Given the description of an element on the screen output the (x, y) to click on. 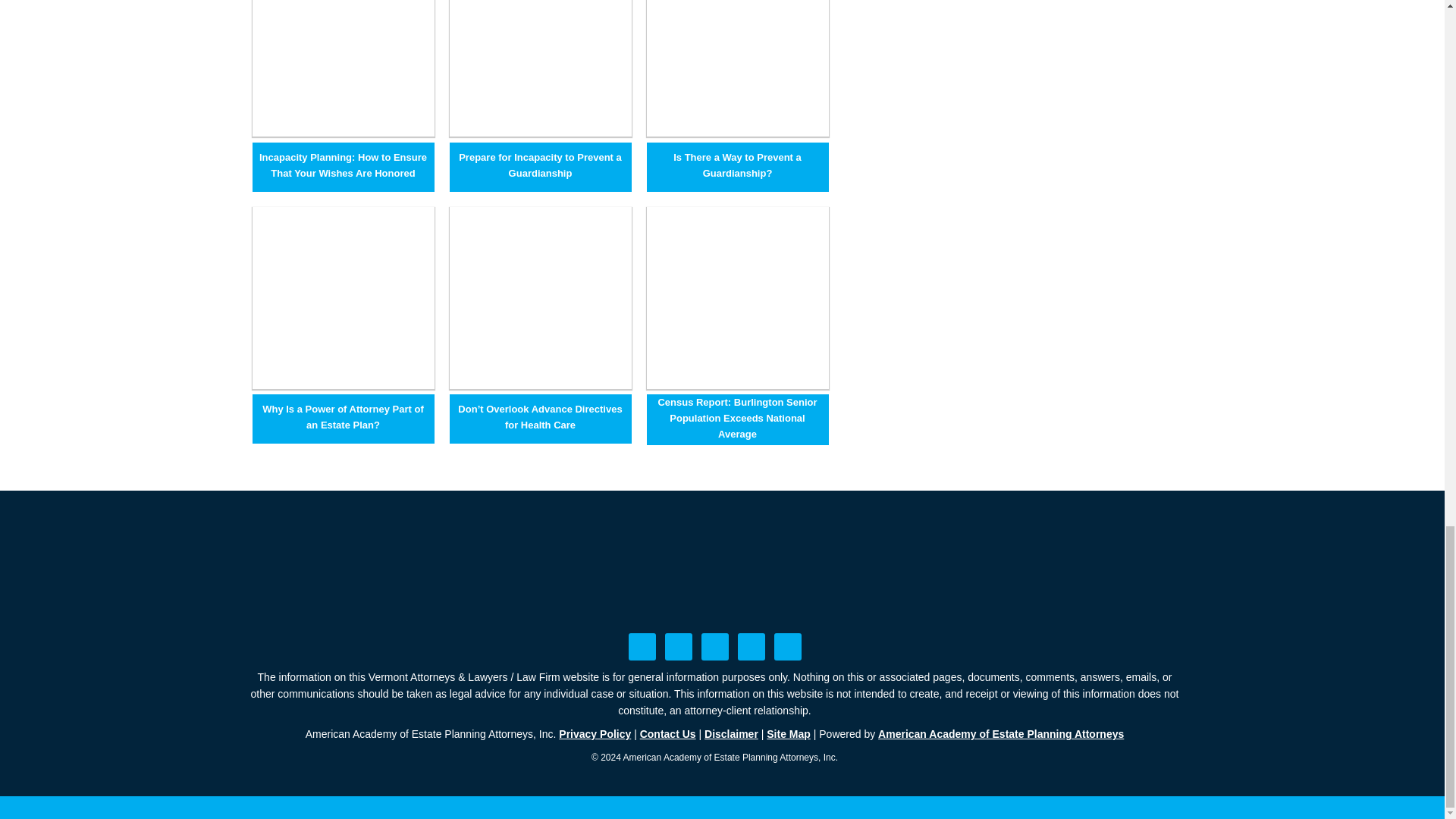
Prepare for Incapacity to Prevent a Guardianship (539, 132)
Prepare for Incapacity to Prevent a Guardianship (539, 164)
Why Is a Power of Attorney Part of an Estate Plan? (343, 417)
Is There a Way to Prevent a Guardianship? (737, 164)
Why Is a Power of Attorney Part of an Estate Plan? (342, 384)
Is There a Way to Prevent a Guardianship? (737, 132)
